Given the description of an element on the screen output the (x, y) to click on. 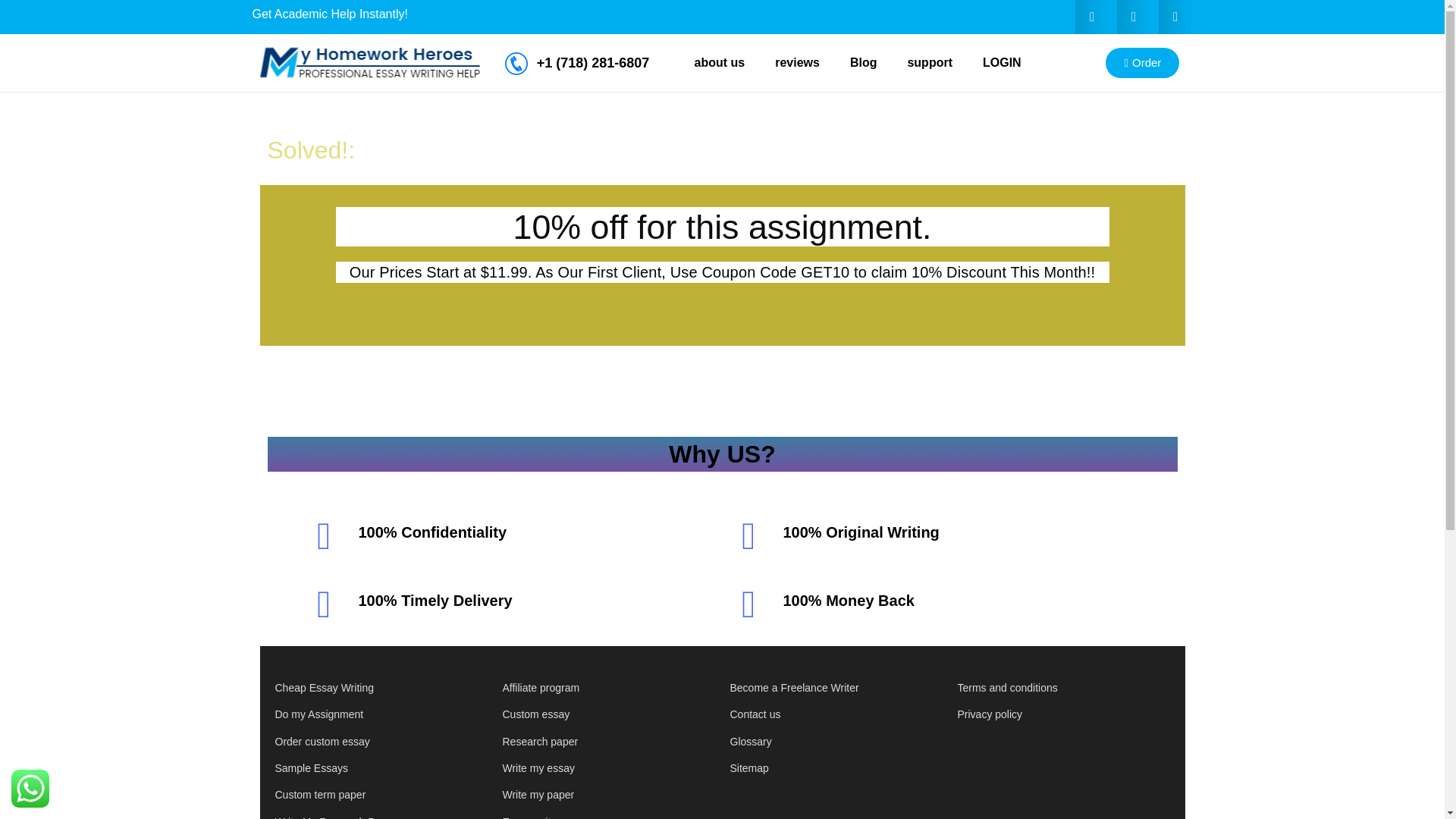
support (929, 62)
blue-phone-icon-png-6 (516, 63)
about us (719, 62)
Order (1142, 62)
LOGIN (1002, 62)
reviews (797, 62)
Blog (863, 62)
